Given the description of an element on the screen output the (x, y) to click on. 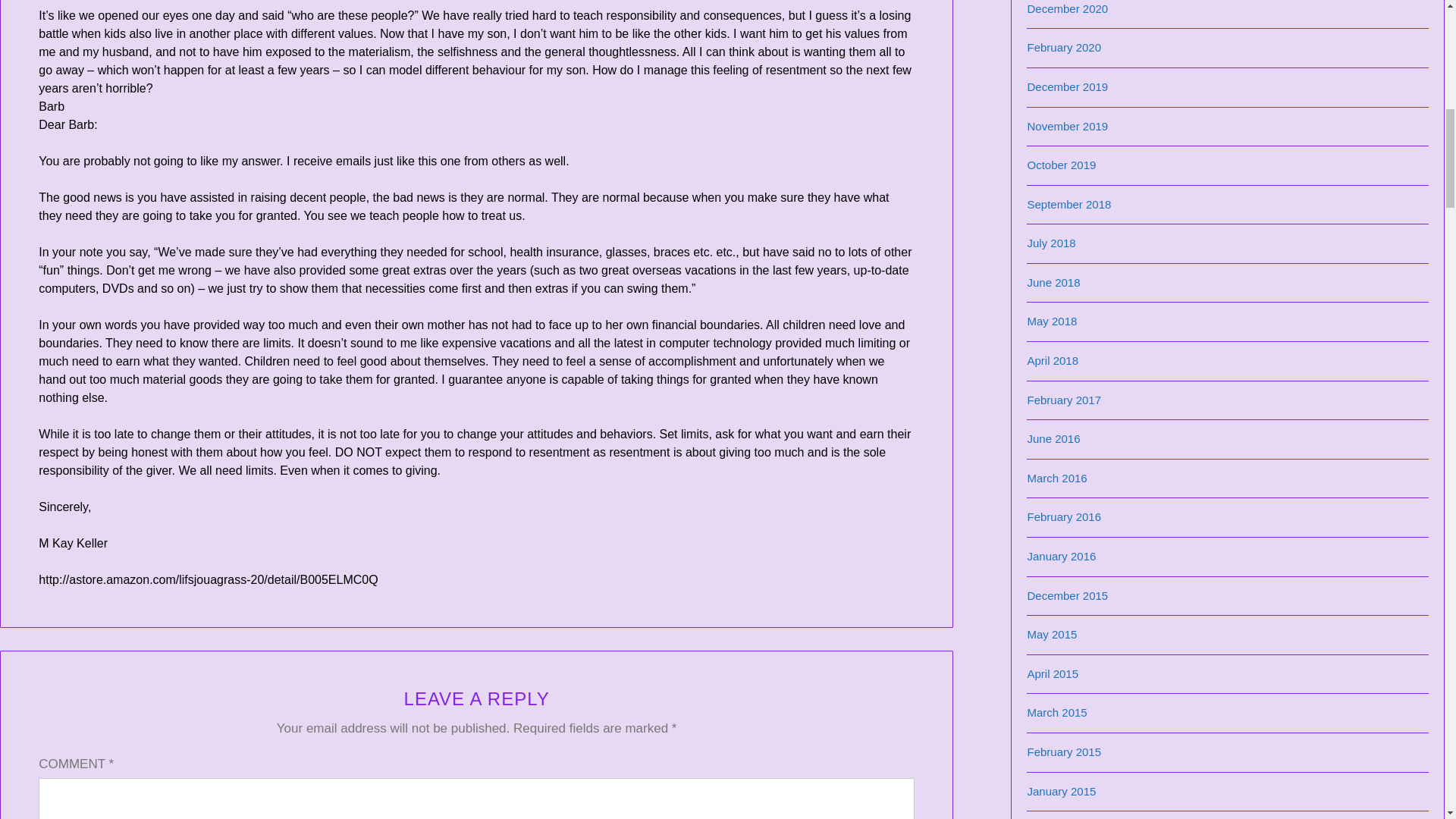
February 2020 (1063, 47)
November 2019 (1067, 125)
December 2020 (1067, 8)
December 2019 (1067, 86)
